Given the description of an element on the screen output the (x, y) to click on. 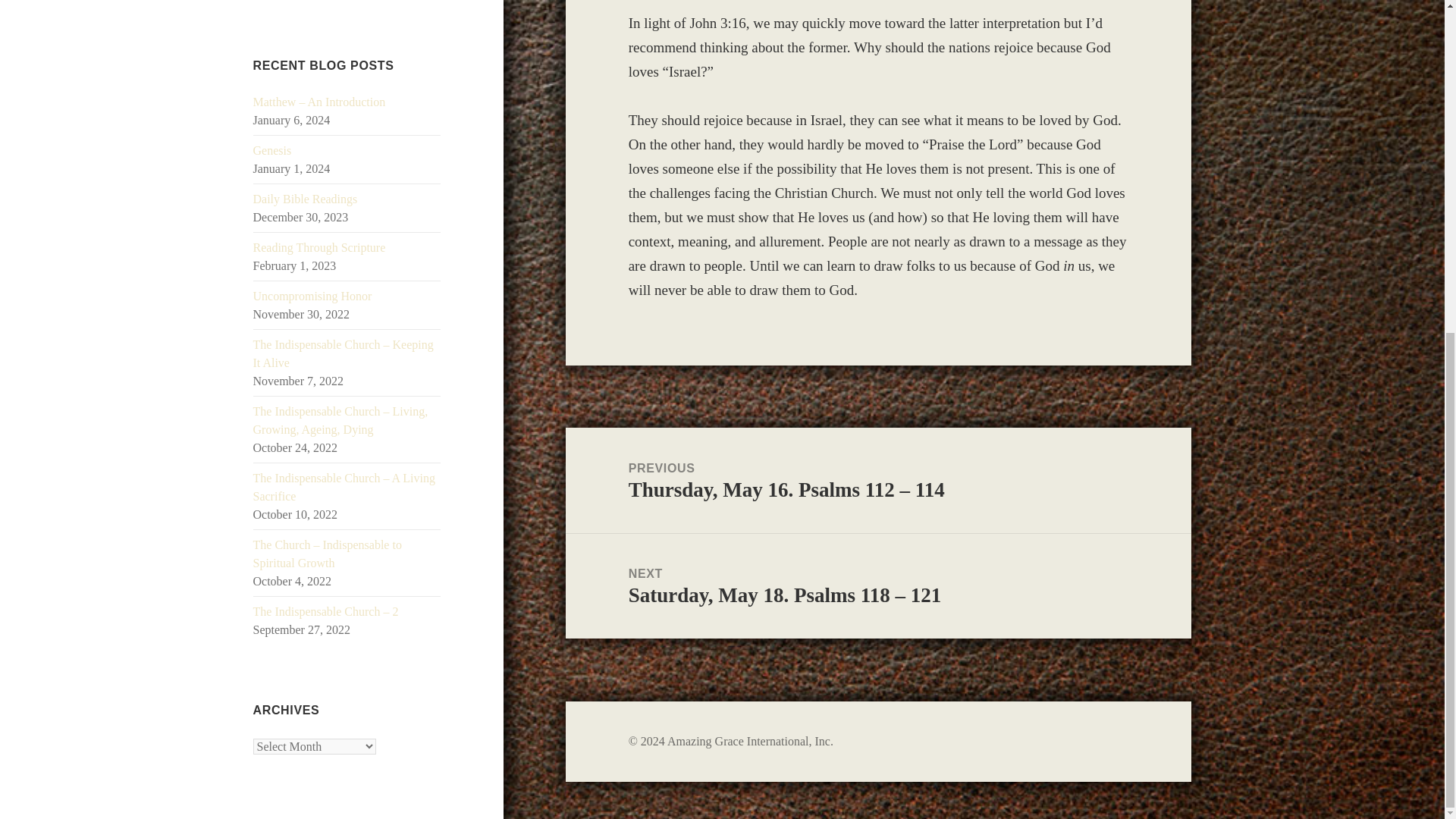
Daily Bible Readings (305, 198)
Uncompromising Honor (312, 295)
Genesis (272, 150)
Reading Through Scripture (319, 246)
